Given the description of an element on the screen output the (x, y) to click on. 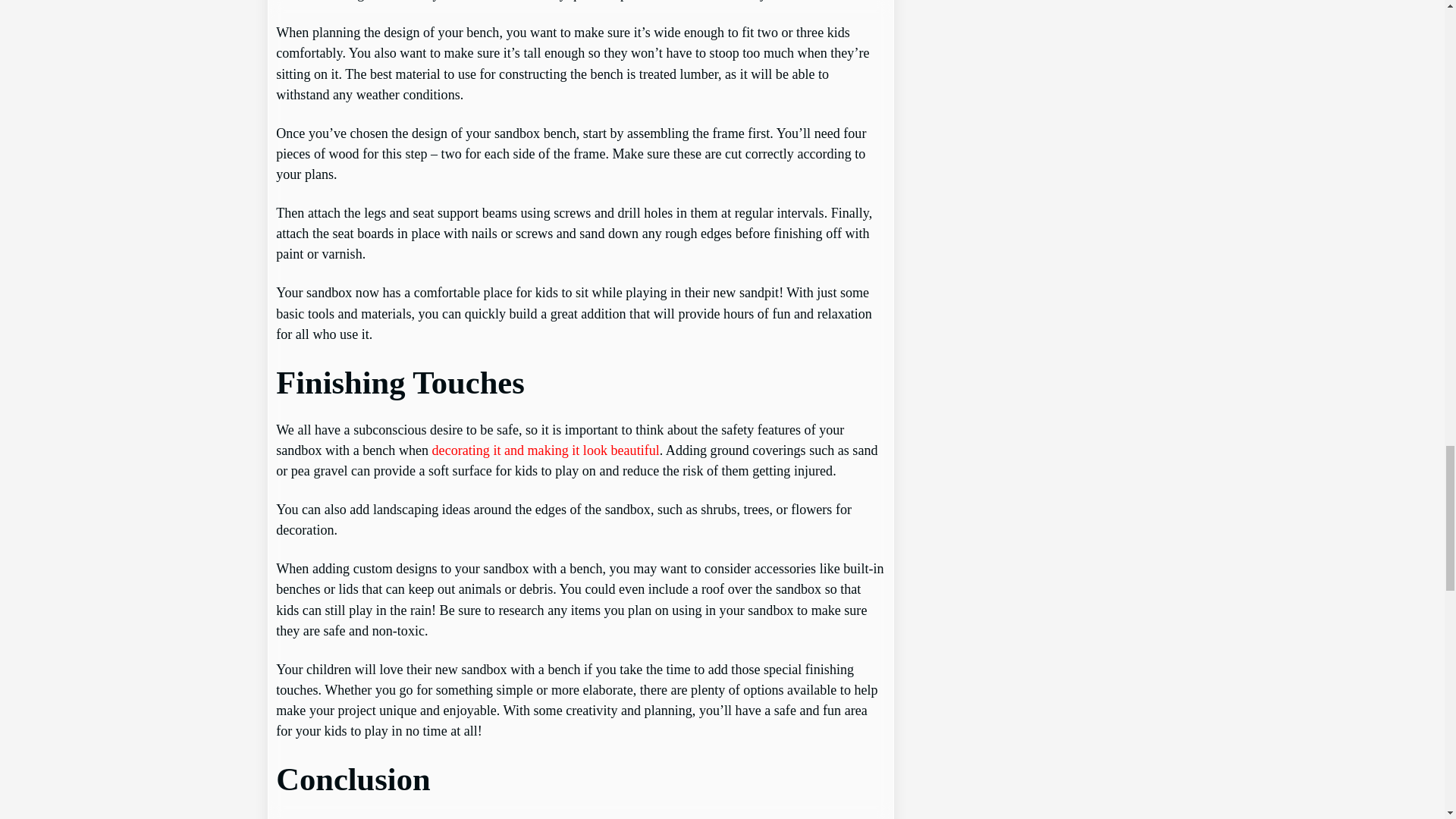
decorating it and making it look beautiful (545, 450)
